Given the description of an element on the screen output the (x, y) to click on. 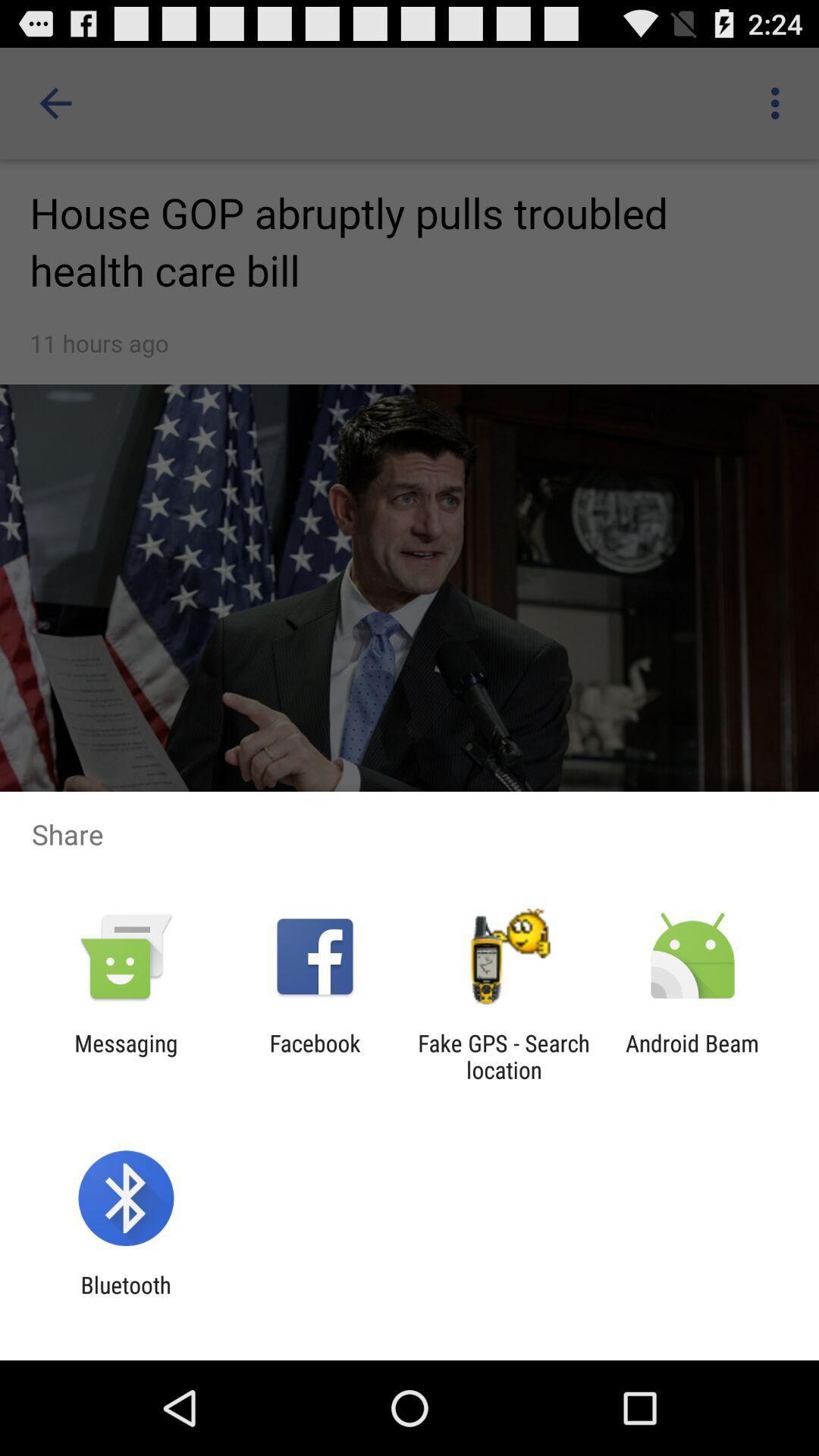
turn on item next to facebook app (503, 1056)
